Given the description of an element on the screen output the (x, y) to click on. 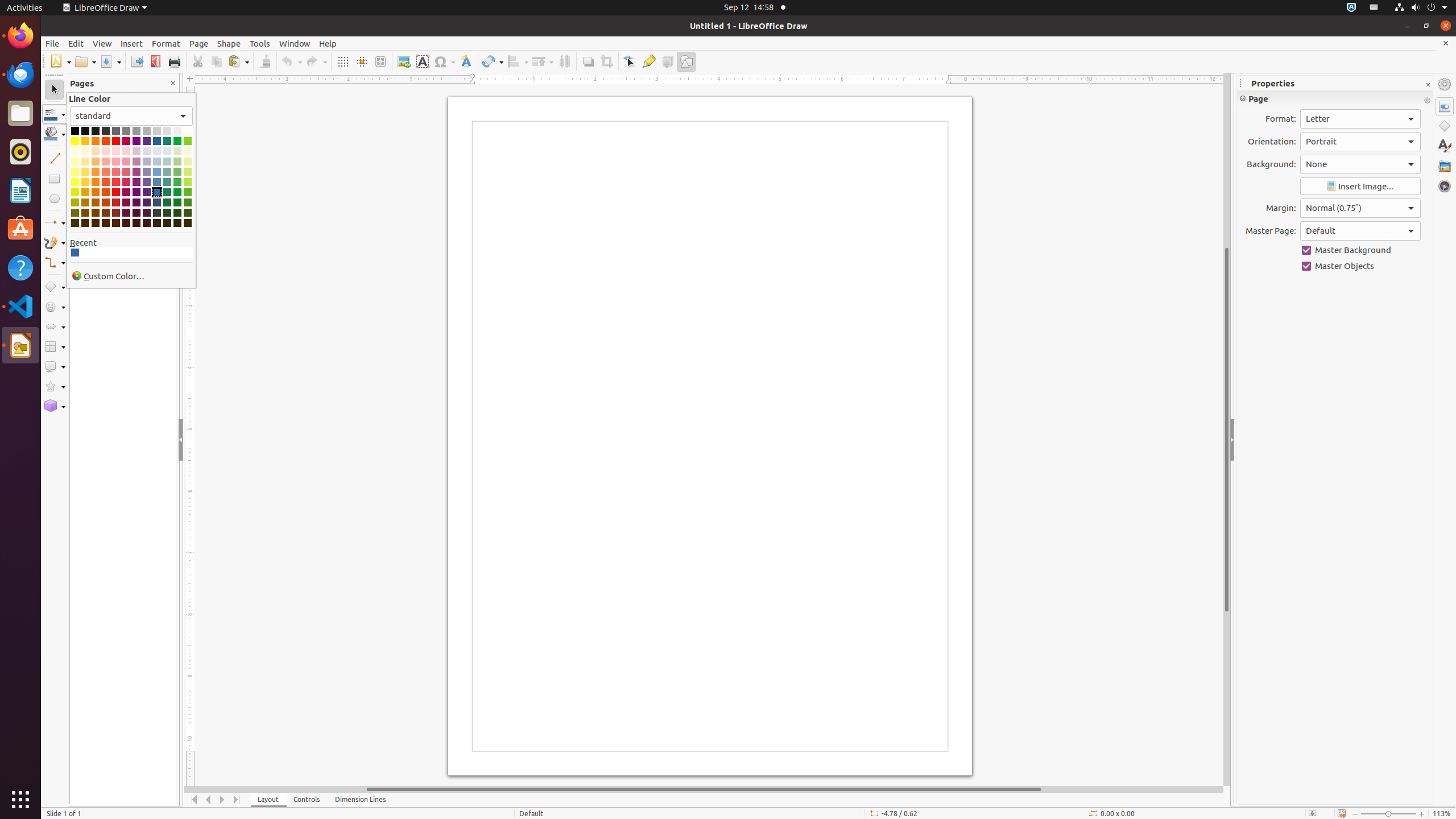
Arrange Element type: push-button (542, 61)
Black Element type: list-item (74, 130)
Dark Gold 4 Element type: list-item (85, 222)
Edit Points Element type: push-button (629, 61)
Redo Element type: push-button (315, 61)
